Given the description of an element on the screen output the (x, y) to click on. 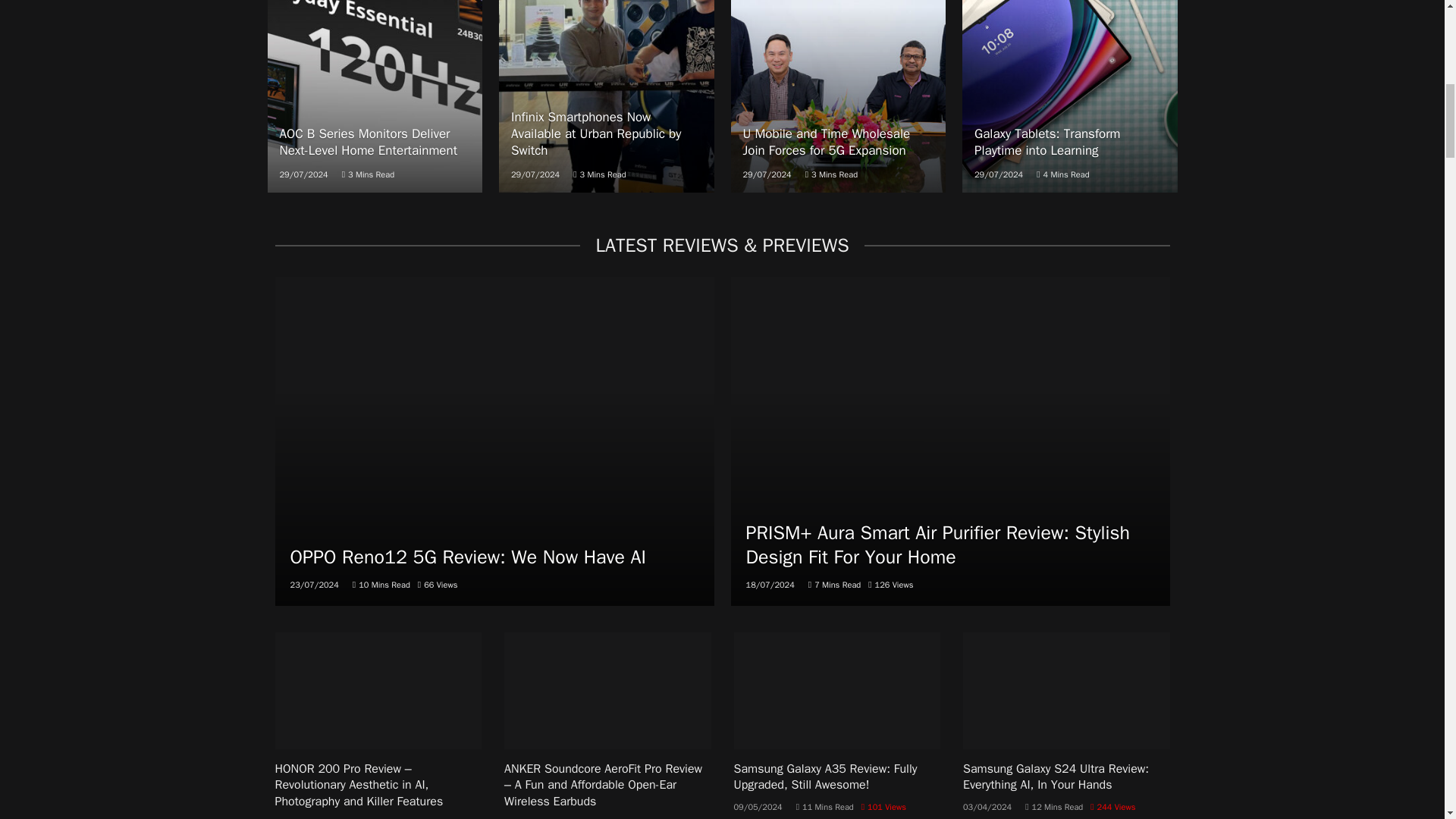
168 Article Views (424, 818)
Galaxy Tablets: Transform Playtime into Learning (1069, 96)
AOC B Series Monitors Deliver Next-Level Home Entertainment (373, 96)
66 Article Views (437, 584)
Samsung Galaxy A35 Review: Fully Upgraded, Still Awesome! (836, 690)
388 Article Views (649, 818)
U Mobile and Time Wholesale Join Forces for 5G Expansion (838, 96)
126 Article Views (889, 584)
